Given the description of an element on the screen output the (x, y) to click on. 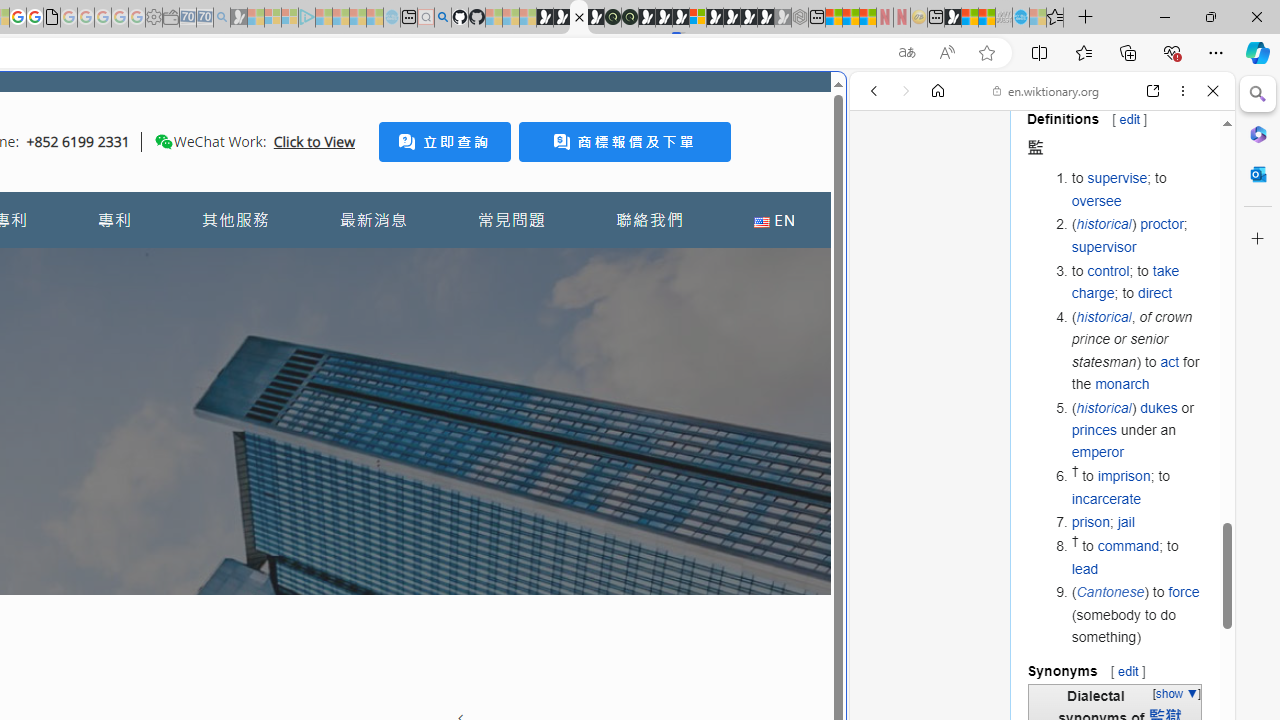
force (1183, 592)
IMAGES (939, 228)
Global web icon (888, 669)
princes (1094, 430)
Microsoft Start Gaming - Sleeping (238, 17)
Class: b_serphb (1190, 229)
command (1127, 546)
Web scope (882, 180)
Search or enter web address (343, 191)
